Given the description of an element on the screen output the (x, y) to click on. 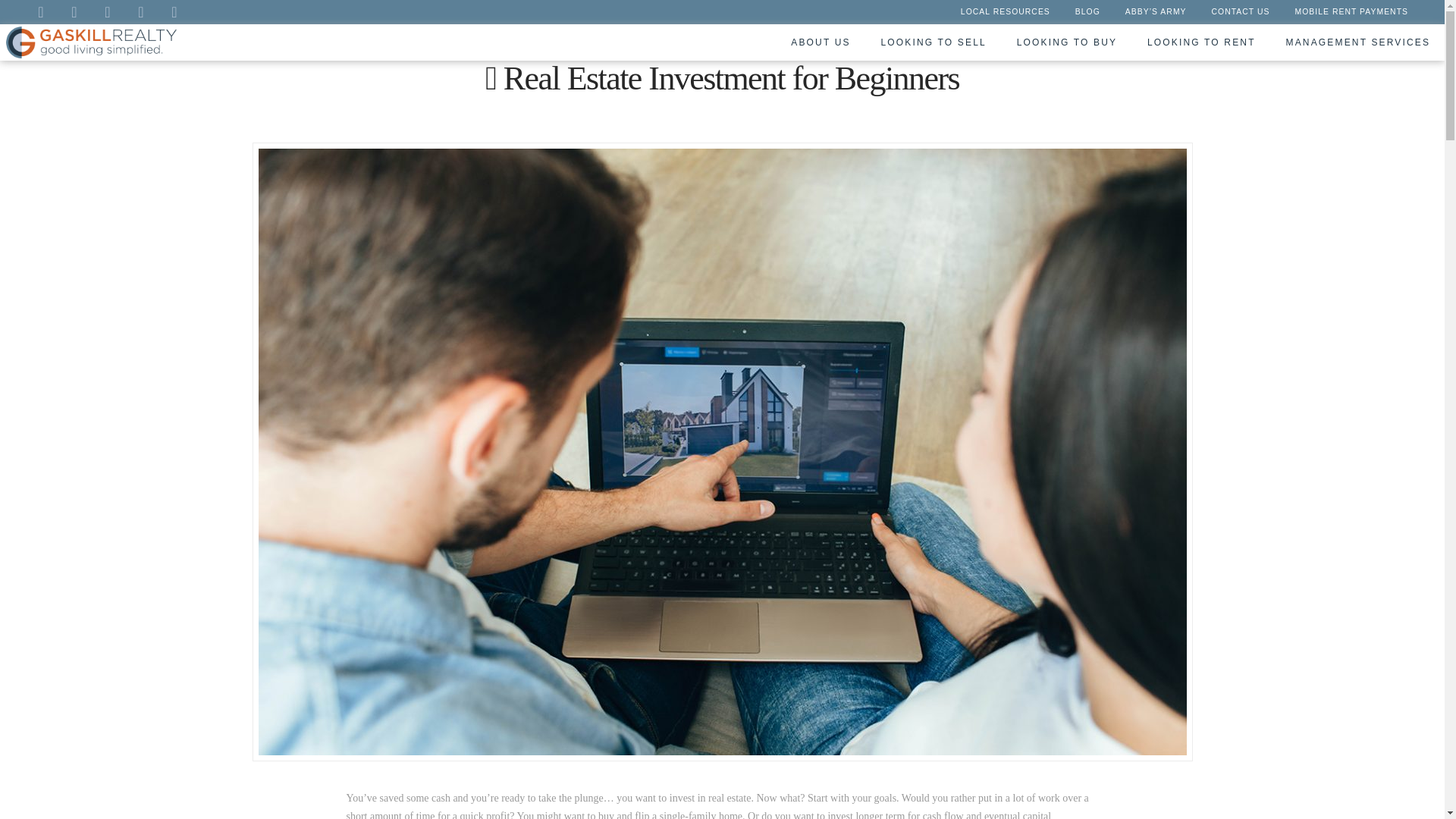
MOBILE RENT PAYMENTS (1351, 14)
BLOG (1087, 14)
LOOKING TO RENT (1200, 42)
LOOKING TO BUY (1066, 42)
LOCAL RESOURCES (1004, 14)
LOOKING TO SELL (932, 42)
ABOUT US (819, 42)
CONTACT US (1240, 14)
